Given the description of an element on the screen output the (x, y) to click on. 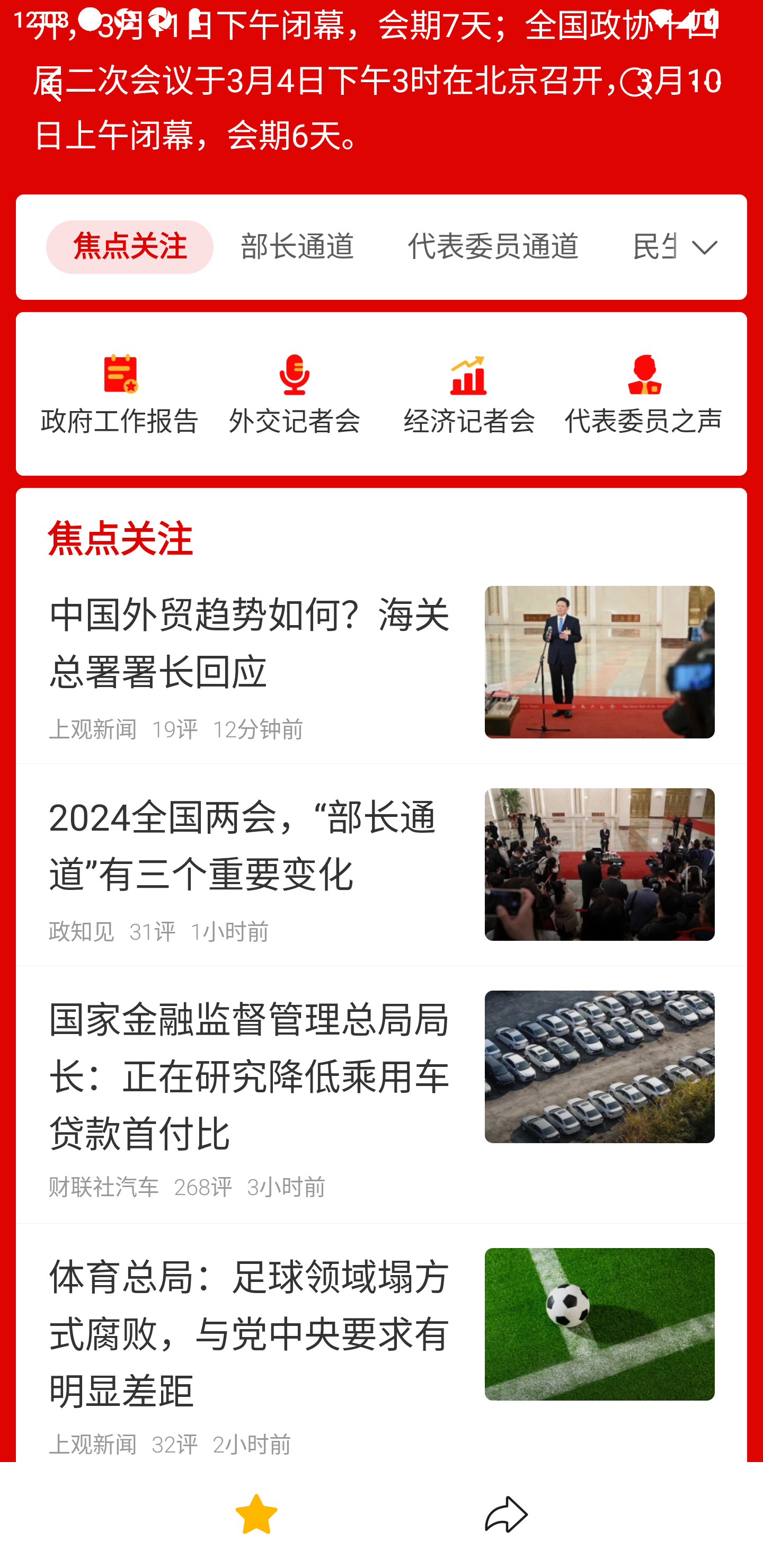
 (50, 83)
 (634, 83)
 (705, 83)
焦点关注 (129, 247)
部长通道 (296, 247)
代表委员通道 (492, 247)
 (708, 246)
政府工作报告 (119, 394)
外交记者会 (294, 394)
经济记者会 (469, 394)
代表委员之声 (643, 394)
焦点关注 (381, 524)
中国外贸趋势如何？海关总署署长回应 上观新闻 19评 12分钟前 (381, 662)
2024全国两会，“部长通道”有三个重要变化 政知见 31评 1小时前 (381, 864)
国家金融监督管理总局局长：正在研究降低乘用车贷款首付比 财联社汽车 268评 3小时前 (381, 1094)
体育总局：足球领域塌方式腐败，与党中央要求有明显差距 上观新闻 32评 2小时前 (381, 1342)
收藏  (255, 1514)
分享  (506, 1514)
